Given the description of an element on the screen output the (x, y) to click on. 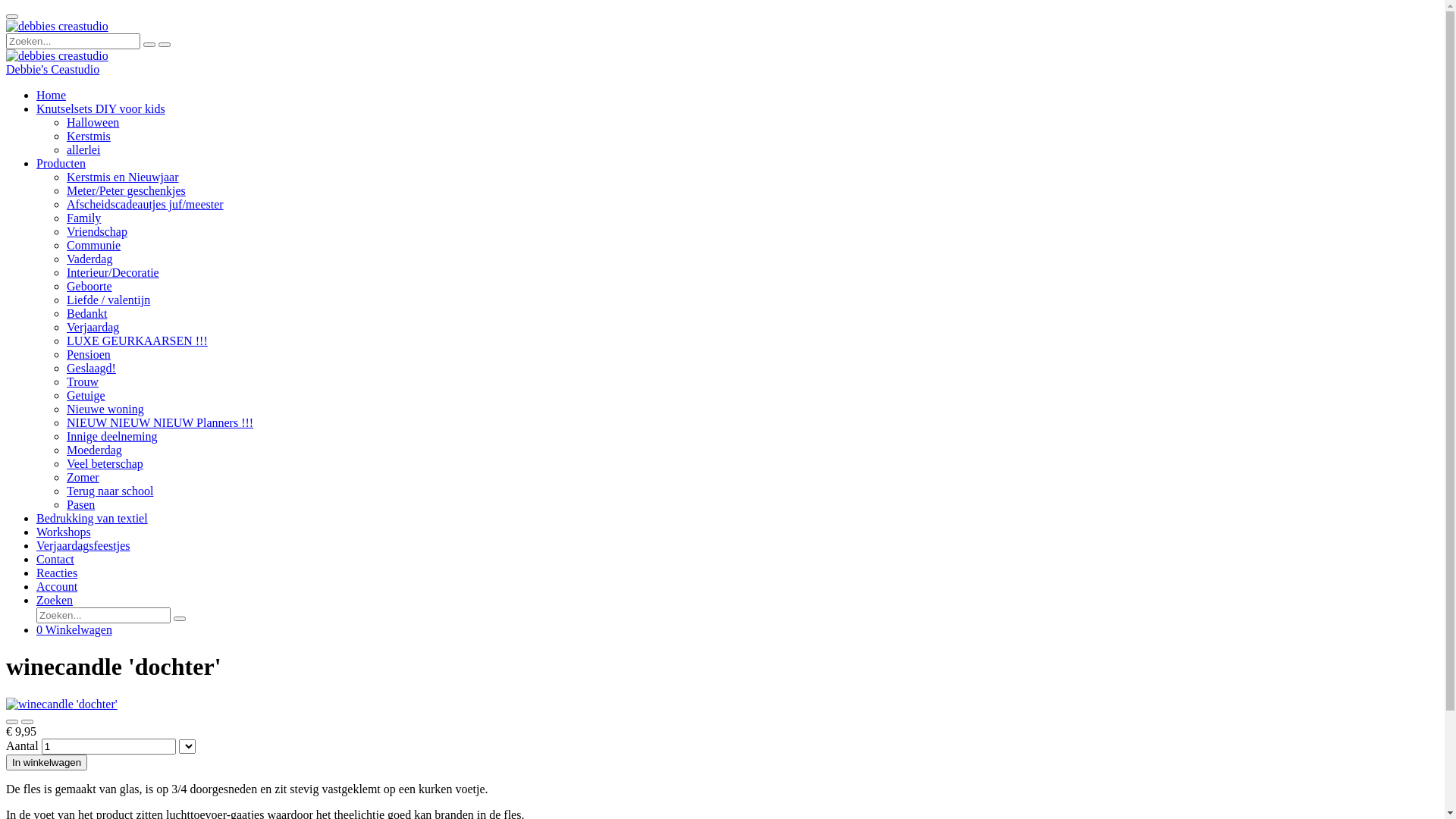
Afscheidscadeautjes juf/meester Element type: text (144, 203)
Debbie's Ceastudio Element type: text (52, 68)
Innige deelneming Element type: text (111, 435)
Home Element type: text (50, 94)
Verjaardagsfeestjes Element type: text (83, 545)
Veel beterschap Element type: text (104, 463)
Geslaagd! Element type: text (91, 367)
Pensioen Element type: text (88, 354)
Zoeken Element type: text (54, 599)
Pasen Element type: text (80, 504)
Vriendschap Element type: text (96, 231)
Terug naar school Element type: text (109, 490)
Bedrukking van textiel Element type: text (91, 517)
LUXE GEURKAARSEN !!! Element type: text (136, 340)
debbies creastudio Element type: hover (57, 26)
Zomer Element type: text (82, 476)
0 Winkelwagen Element type: text (74, 629)
Liefde / valentijn Element type: text (108, 299)
Geboorte Element type: text (89, 285)
Moederdag Element type: text (94, 449)
Vaderdag Element type: text (89, 258)
Communie Element type: text (93, 244)
Trouw Element type: text (82, 381)
Nieuwe woning Element type: text (105, 408)
In winkelwagen Element type: text (46, 762)
Bedankt Element type: text (86, 313)
Producten Element type: text (60, 162)
Halloween Element type: text (92, 122)
Verjaardag Element type: text (92, 326)
Meter/Peter geschenkjes Element type: text (125, 190)
allerlei Element type: text (83, 149)
Account Element type: text (56, 586)
debbies creastudio Element type: hover (57, 55)
Family Element type: text (83, 217)
Contact Element type: text (55, 558)
Getuige Element type: text (85, 395)
Knutselsets DIY voor kids Element type: text (100, 108)
Kerstmis Element type: text (88, 135)
NIEUW NIEUW NIEUW Planners !!! Element type: text (159, 422)
Kerstmis en Nieuwjaar Element type: text (122, 176)
Reacties Element type: text (56, 572)
Interieur/Decoratie Element type: text (112, 272)
Workshops Element type: text (63, 531)
